Given the description of an element on the screen output the (x, y) to click on. 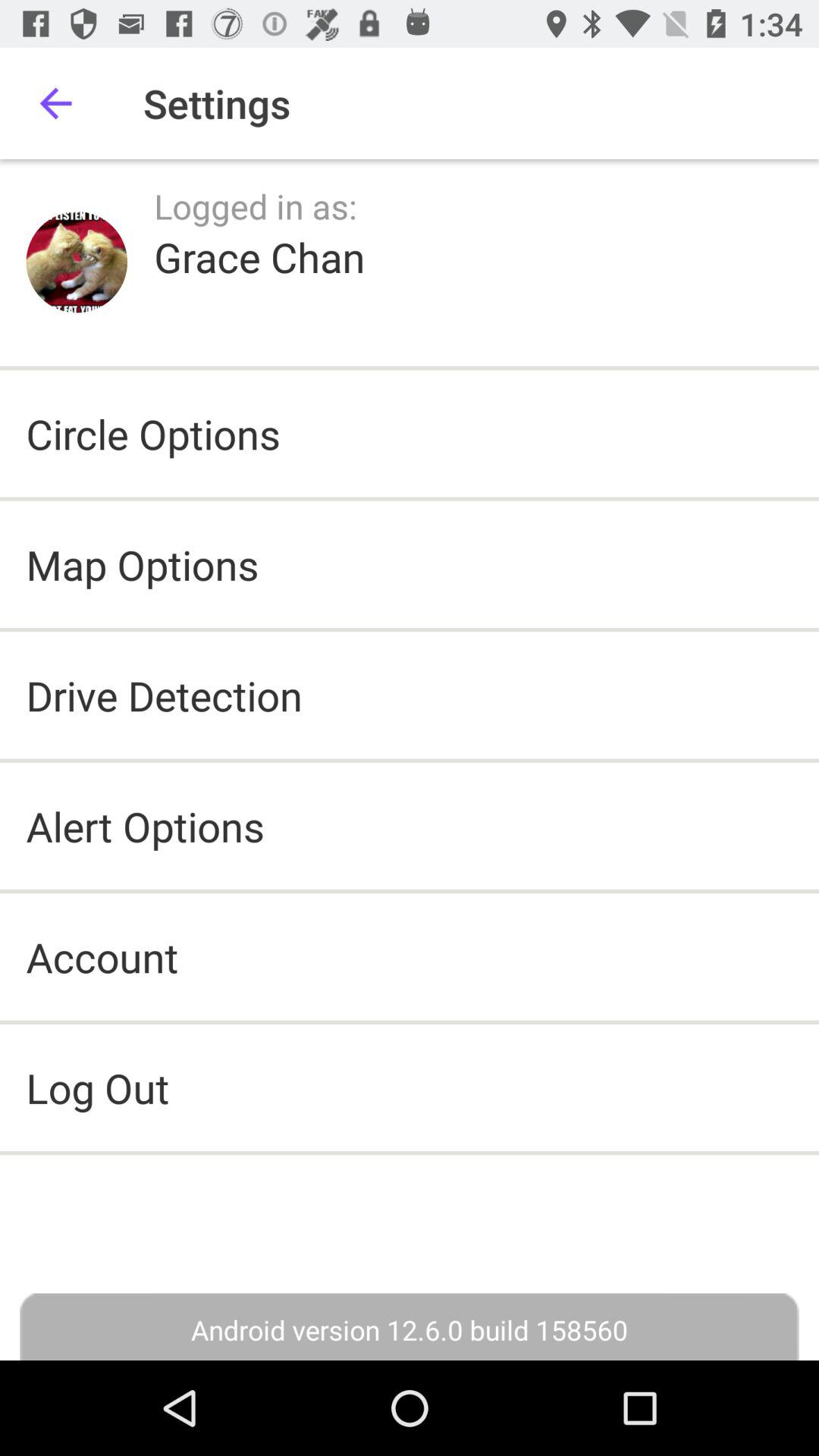
select the grace chan icon (259, 256)
